Given the description of an element on the screen output the (x, y) to click on. 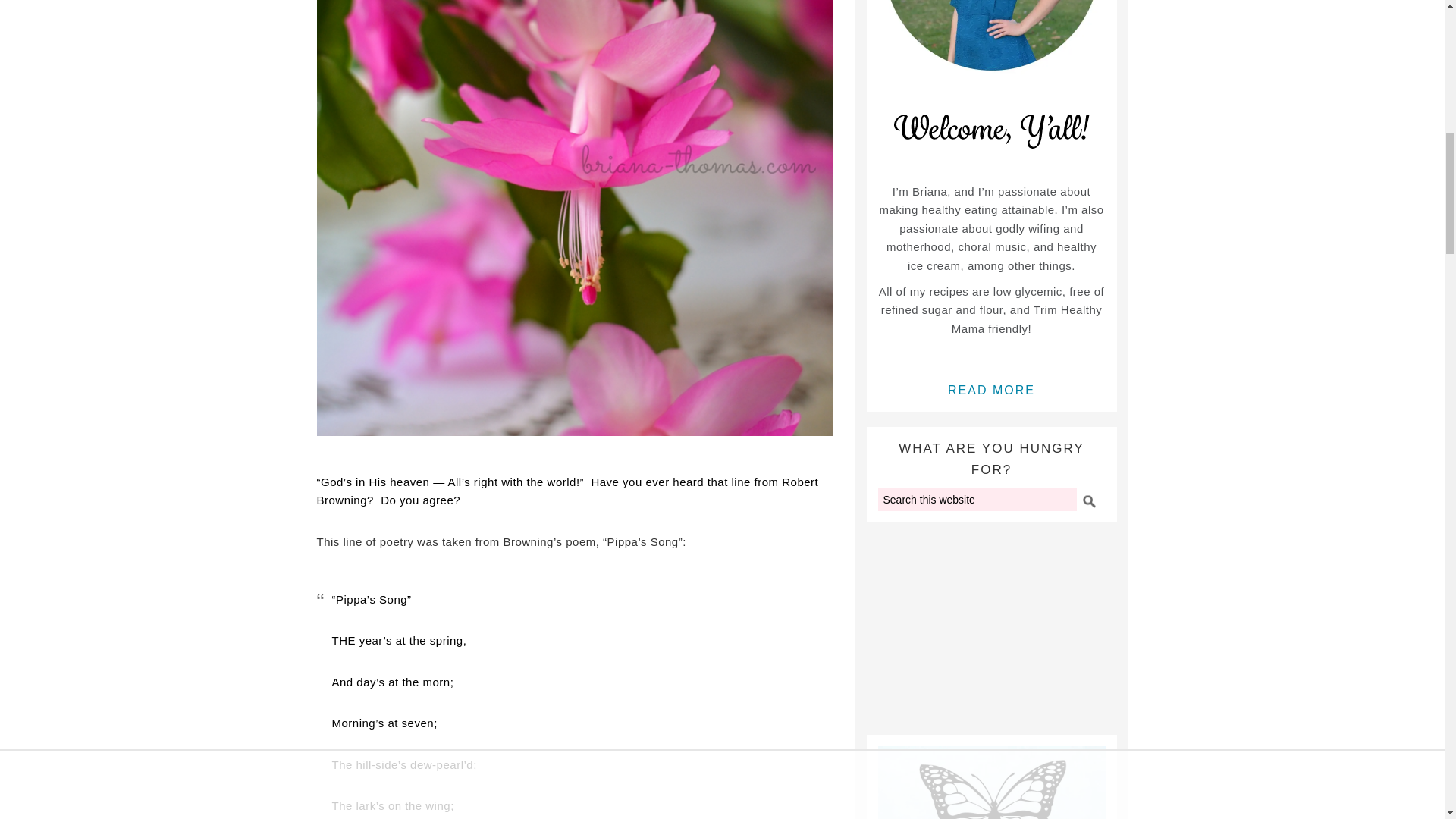
go (1088, 500)
go (1088, 500)
